Given the description of an element on the screen output the (x, y) to click on. 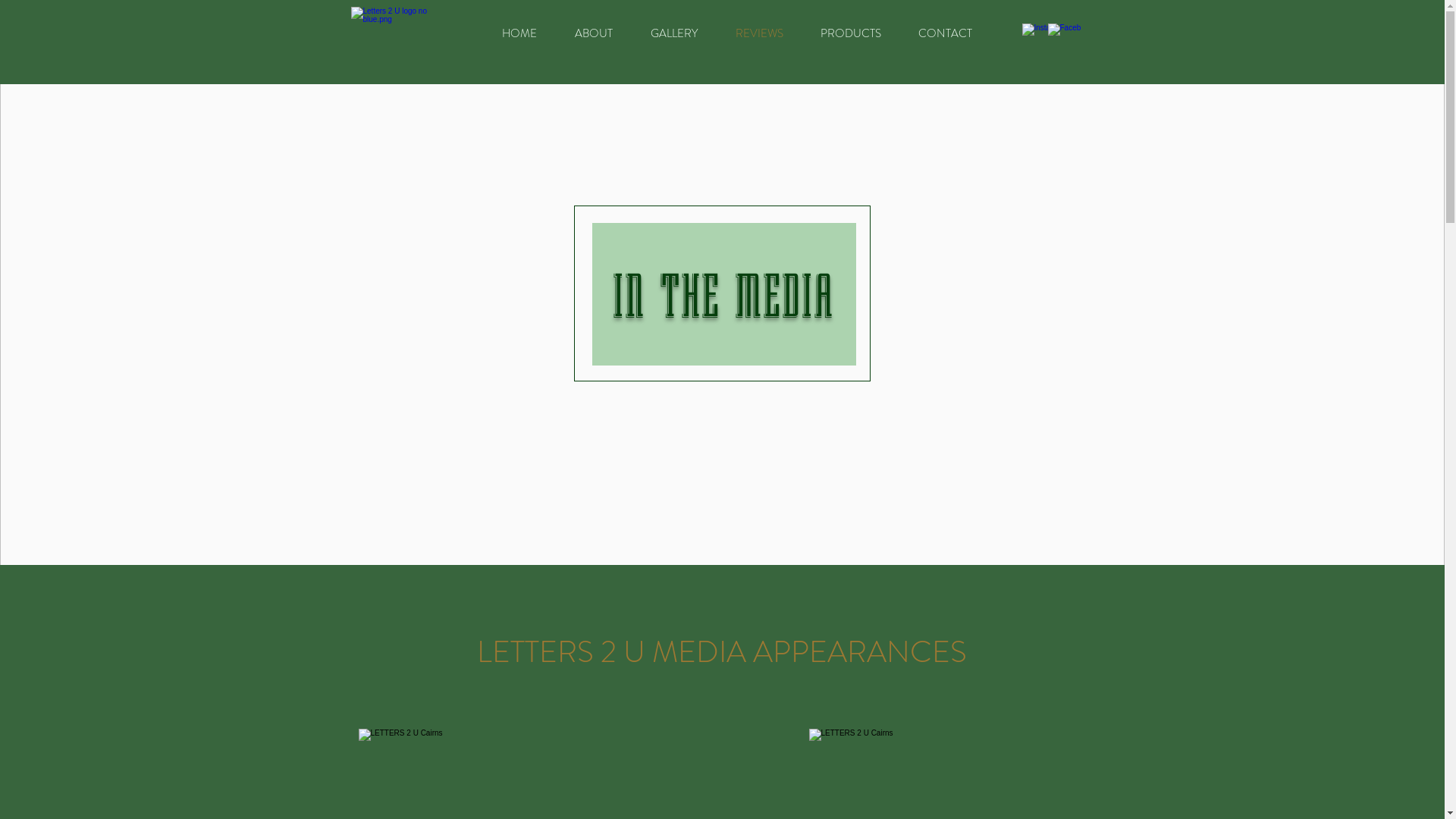
PRODUCTS Element type: text (851, 33)
GALLERY Element type: text (672, 33)
CONTACT Element type: text (944, 33)
ABOUT Element type: text (592, 33)
HOME Element type: text (518, 33)
REVIEWS Element type: text (758, 33)
